Given the description of an element on the screen output the (x, y) to click on. 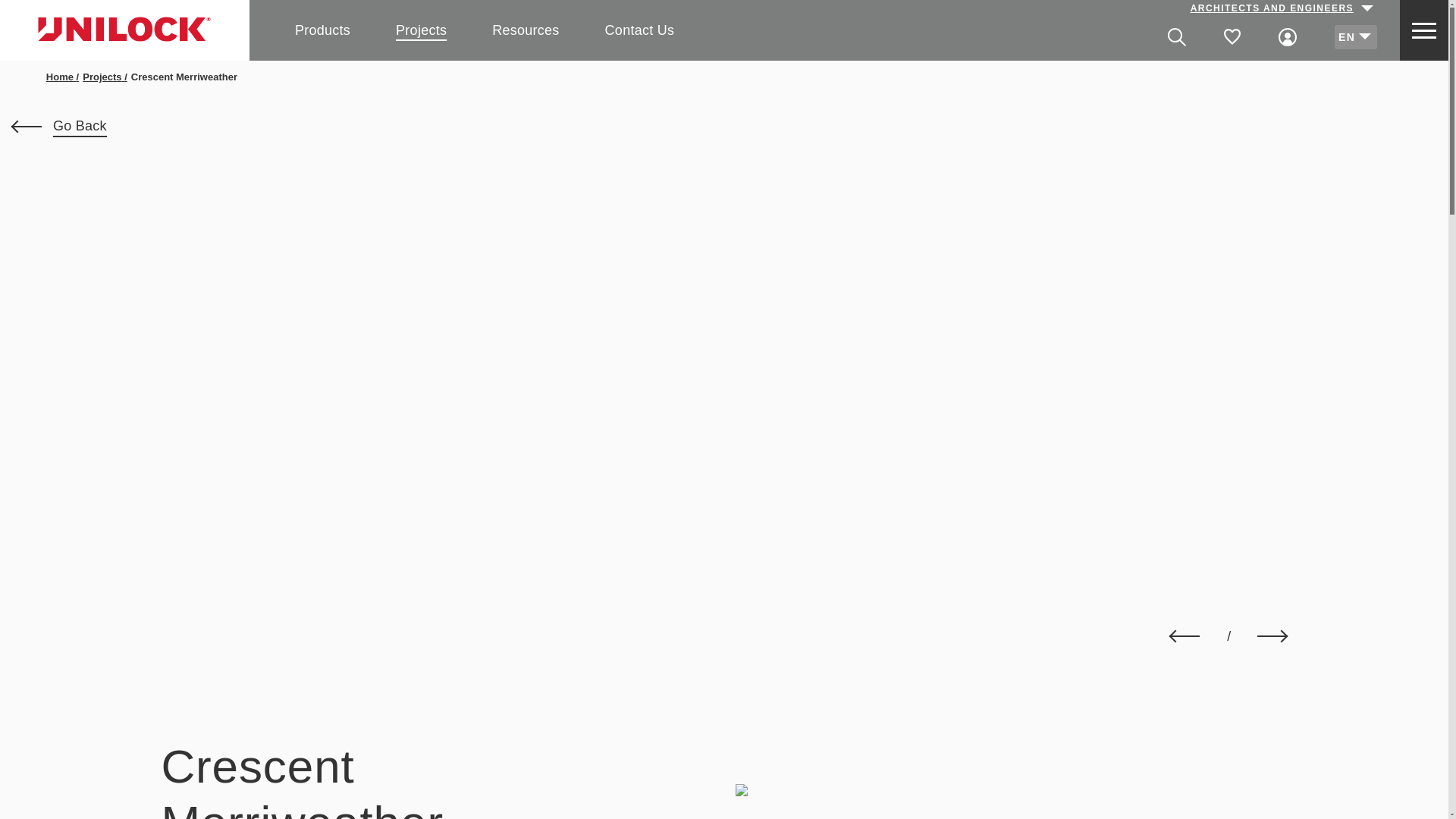
Products (322, 29)
Resources (525, 29)
Projects (421, 29)
